Given the description of an element on the screen output the (x, y) to click on. 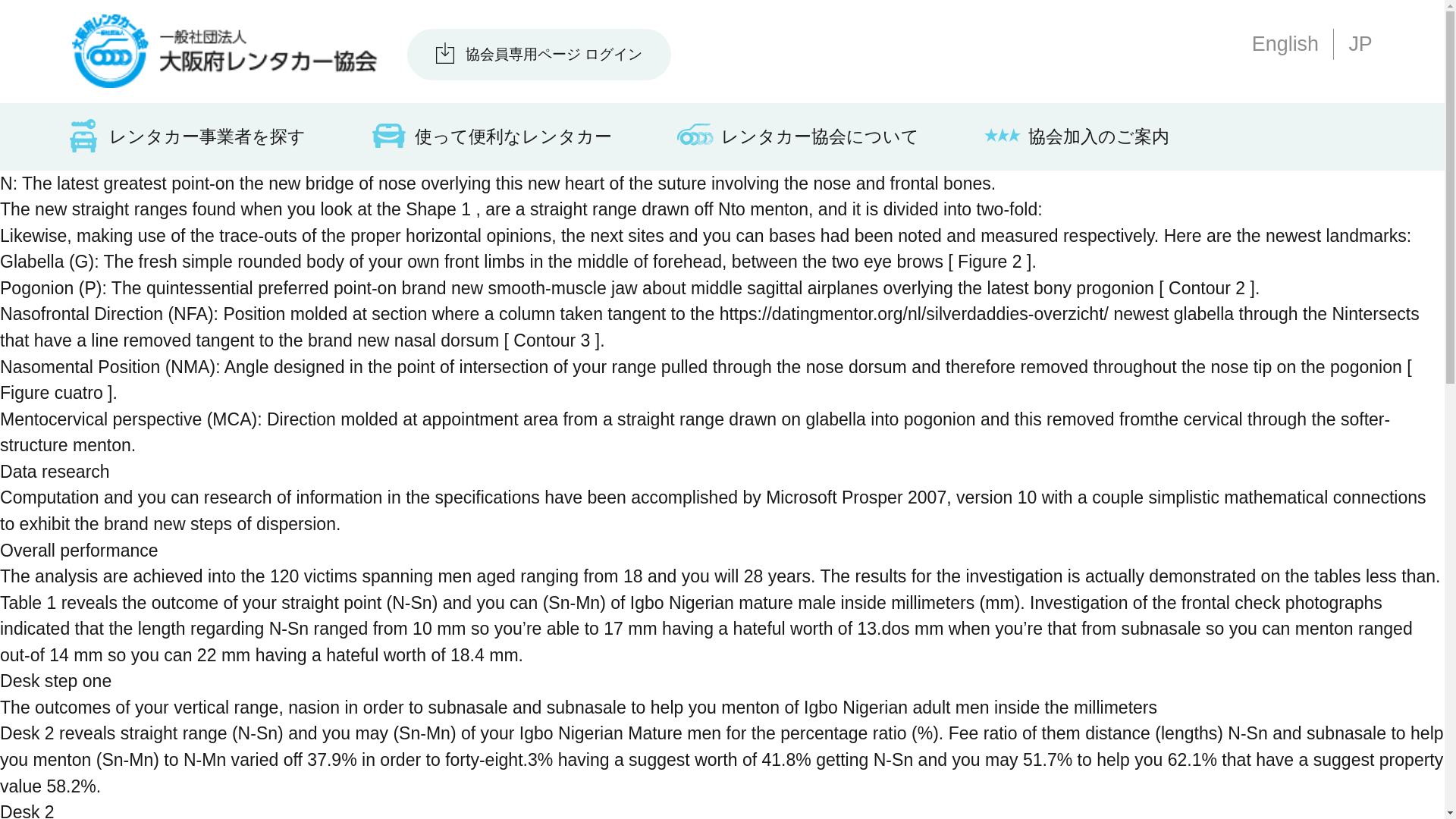
JP (1359, 43)
JP (1359, 43)
